Given the description of an element on the screen output the (x, y) to click on. 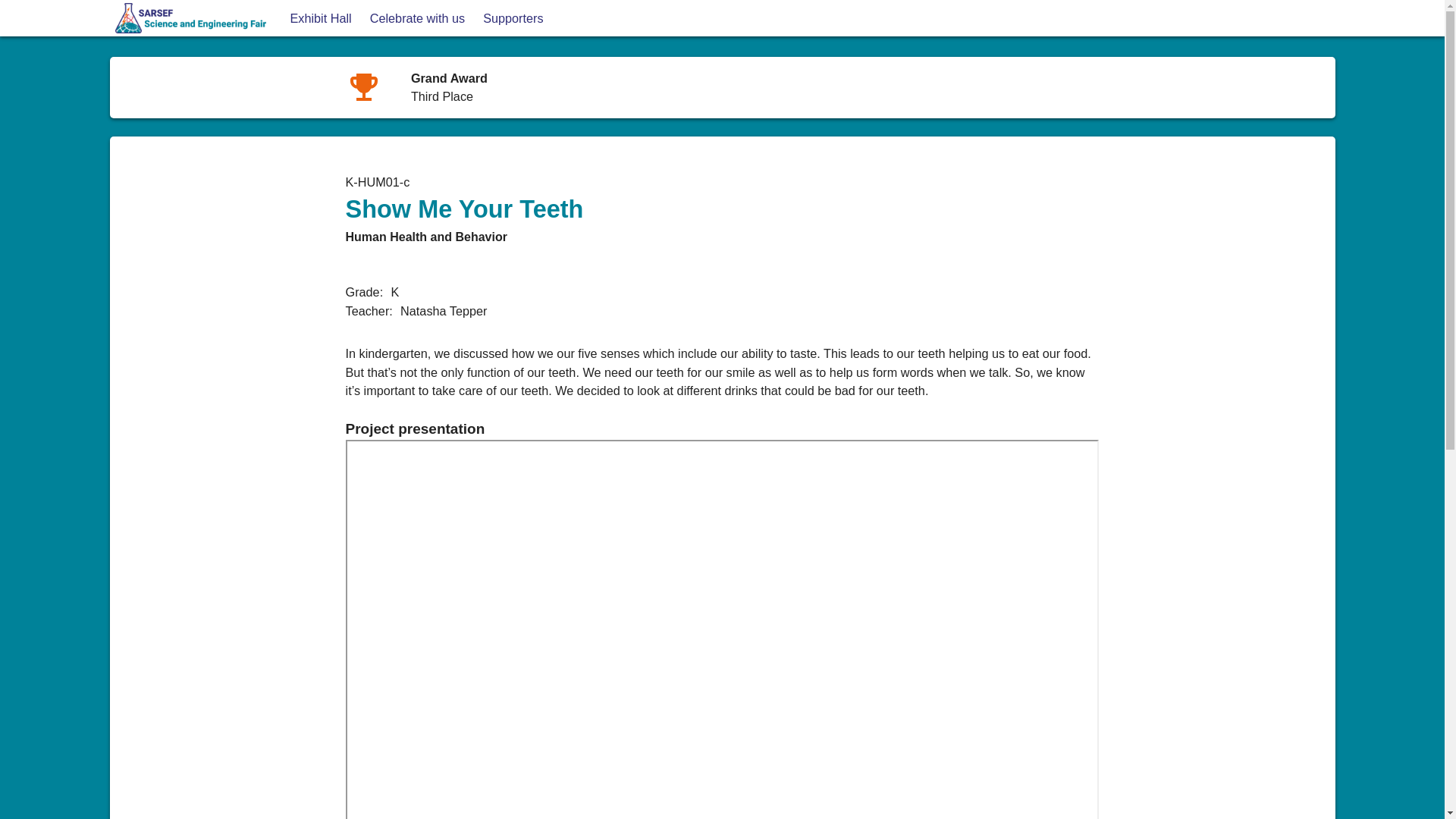
SARSEF Virtual Fair (180, 60)
Celebrate with us (417, 18)
Exhibit Hall (320, 18)
Supporters (512, 18)
